Given the description of an element on the screen output the (x, y) to click on. 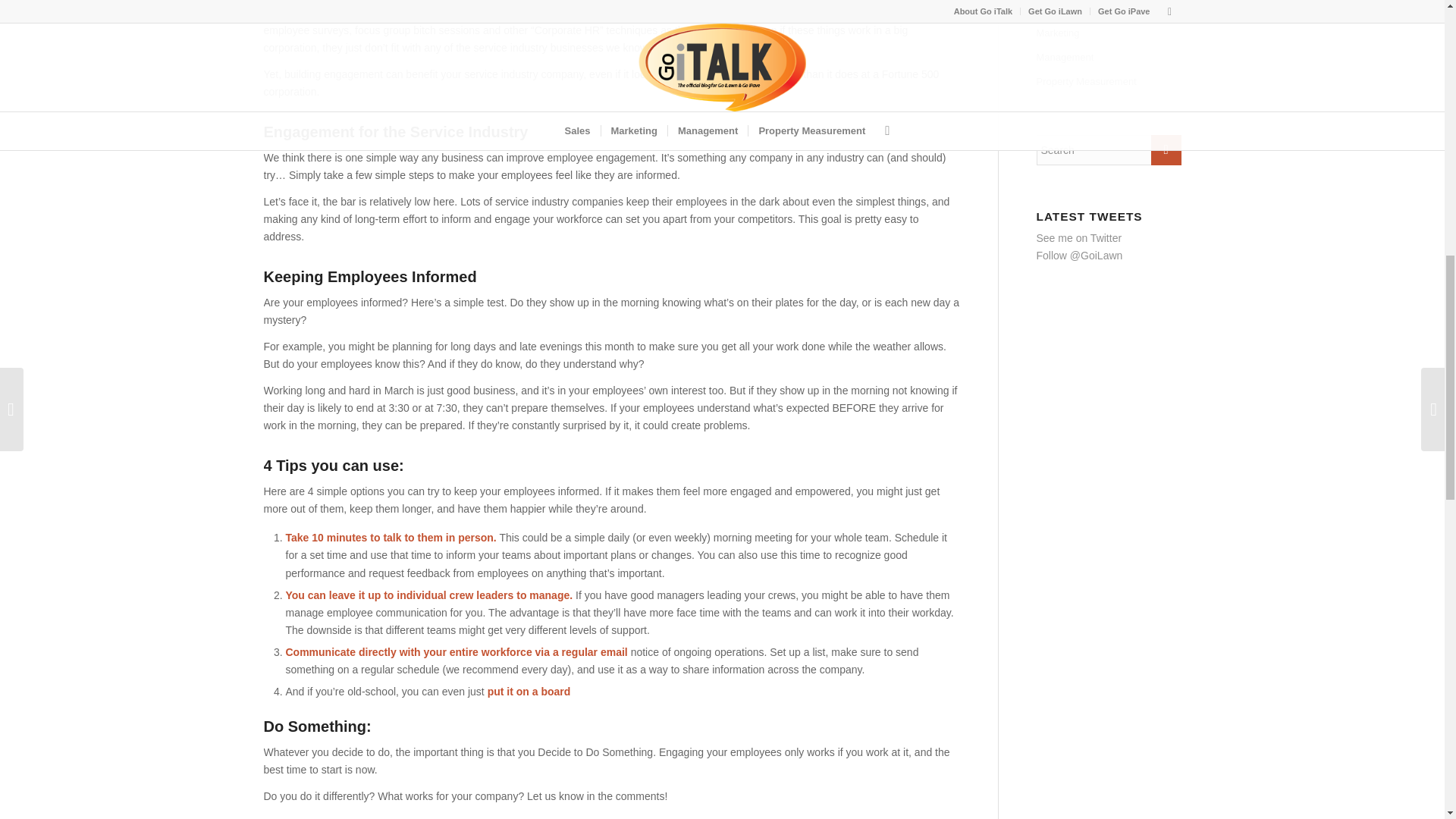
put it on a board (528, 691)
